Given the description of an element on the screen output the (x, y) to click on. 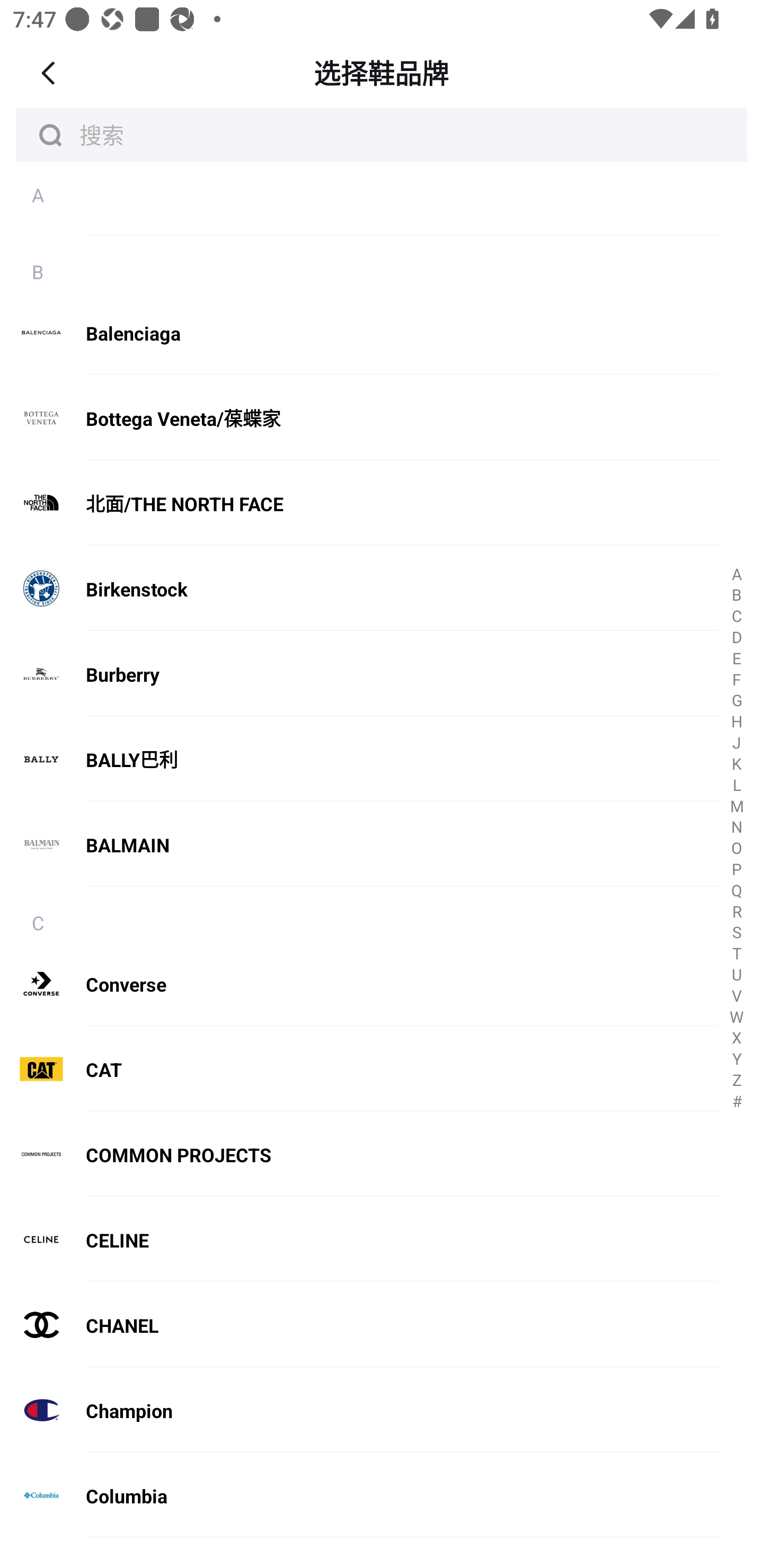
搜索 (381, 134)
AVIA (359, 212)
Balenciaga (359, 332)
Bottega Veneta/葆蝶家 (359, 418)
北面/THE NORTH FACE (359, 503)
Birkenstock (359, 588)
Burberry (359, 673)
BALLY巴利 (359, 759)
BALMAIN (359, 852)
Converse (359, 983)
CAT (359, 1069)
COMMON PROJECTS (359, 1154)
CELINE (359, 1239)
CHANEL (359, 1325)
Champion (359, 1409)
Columbia (359, 1495)
